Given the description of an element on the screen output the (x, y) to click on. 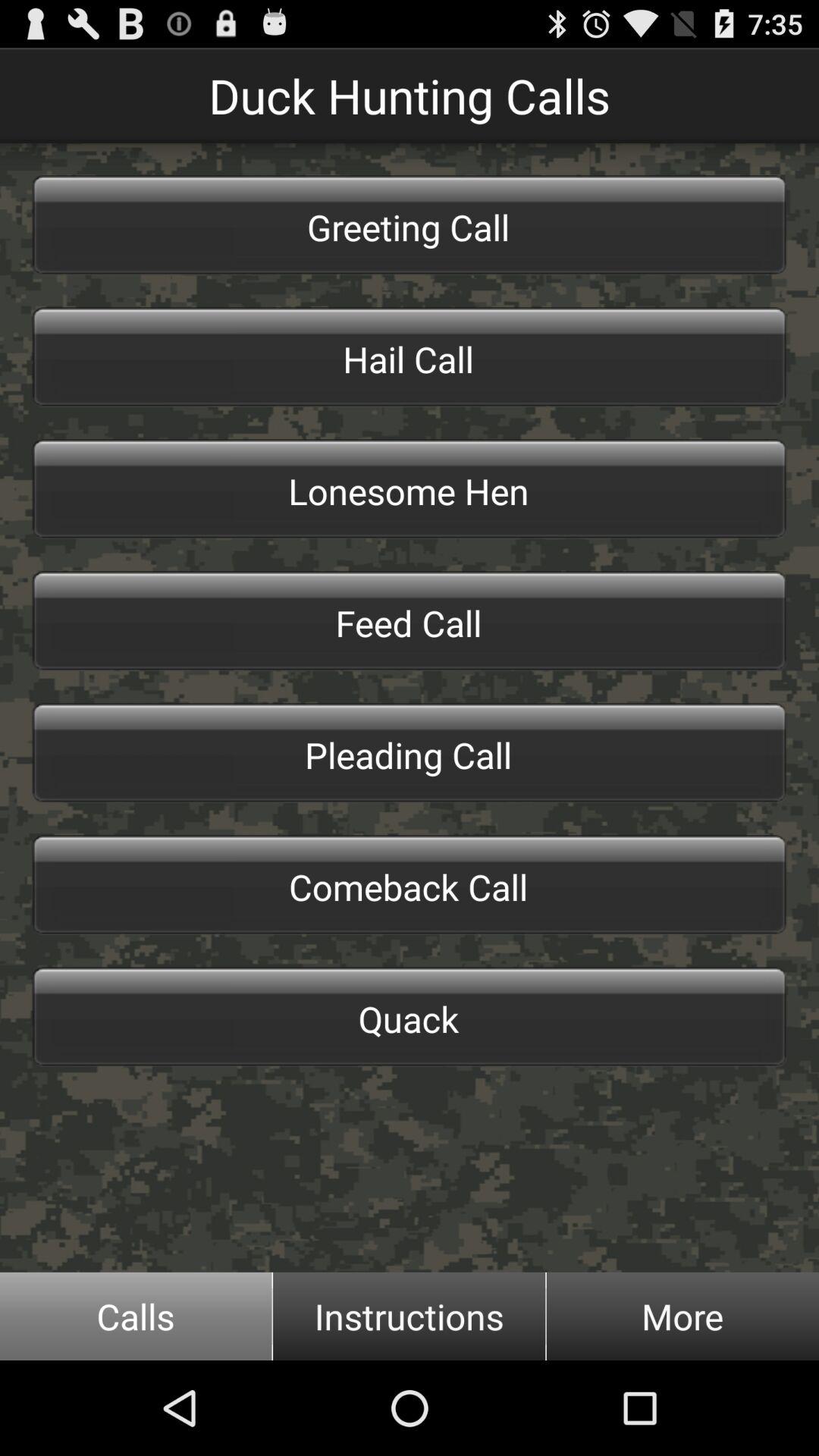
choose item below the hail call icon (409, 489)
